Given the description of an element on the screen output the (x, y) to click on. 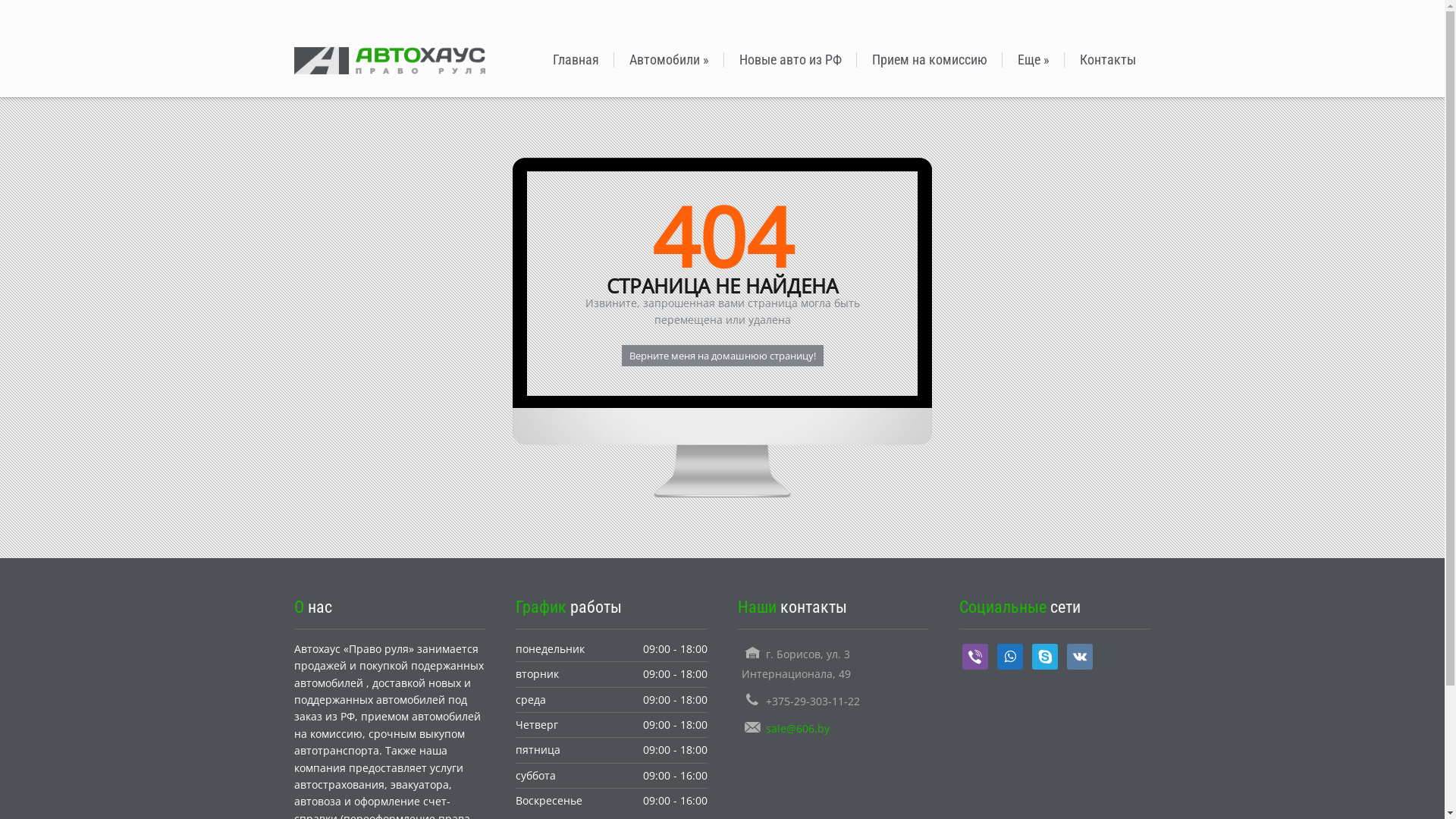
sale@606.by Element type: text (797, 728)
